Given the description of an element on the screen output the (x, y) to click on. 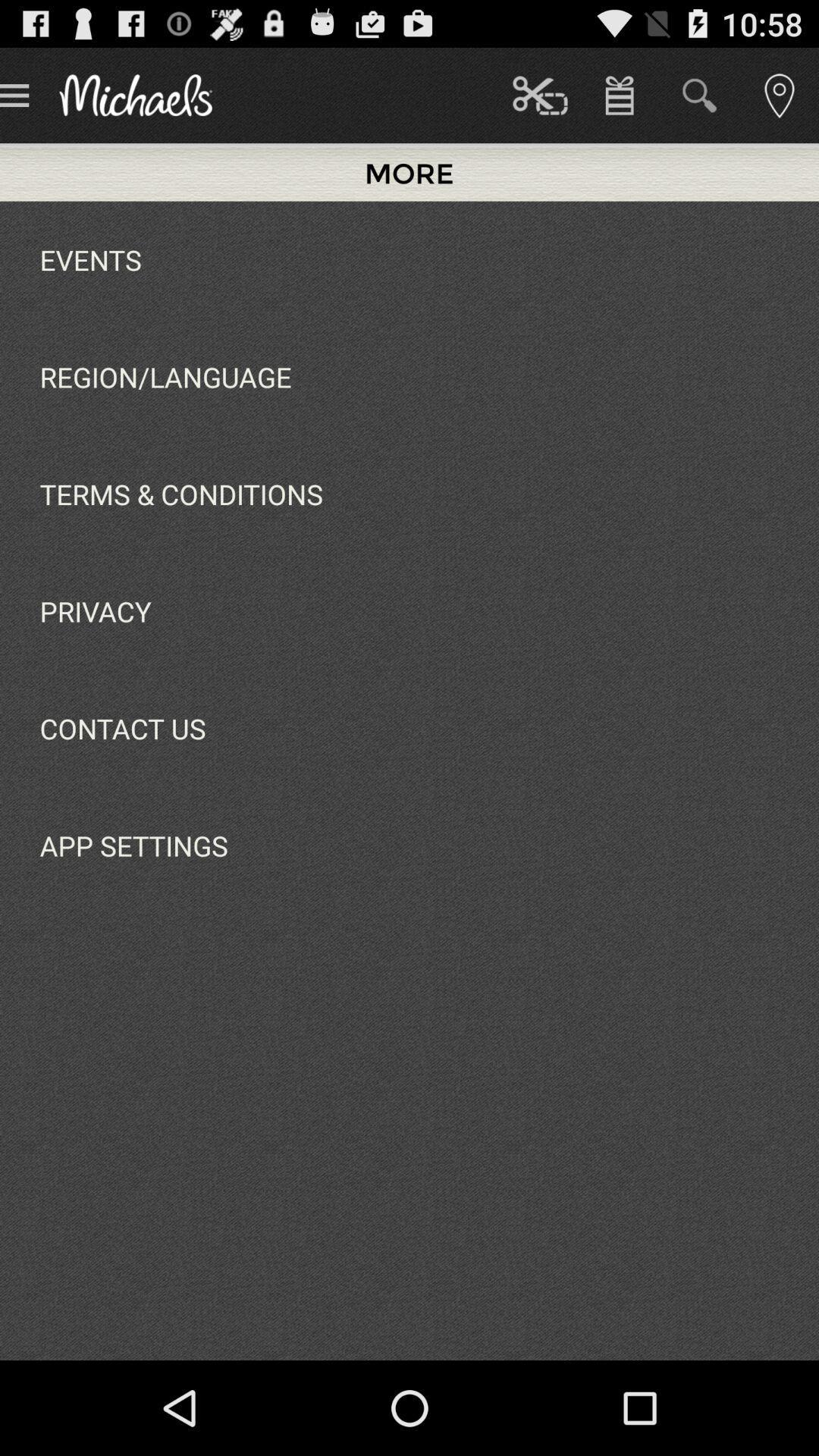
flip to app settings app (133, 845)
